Given the description of an element on the screen output the (x, y) to click on. 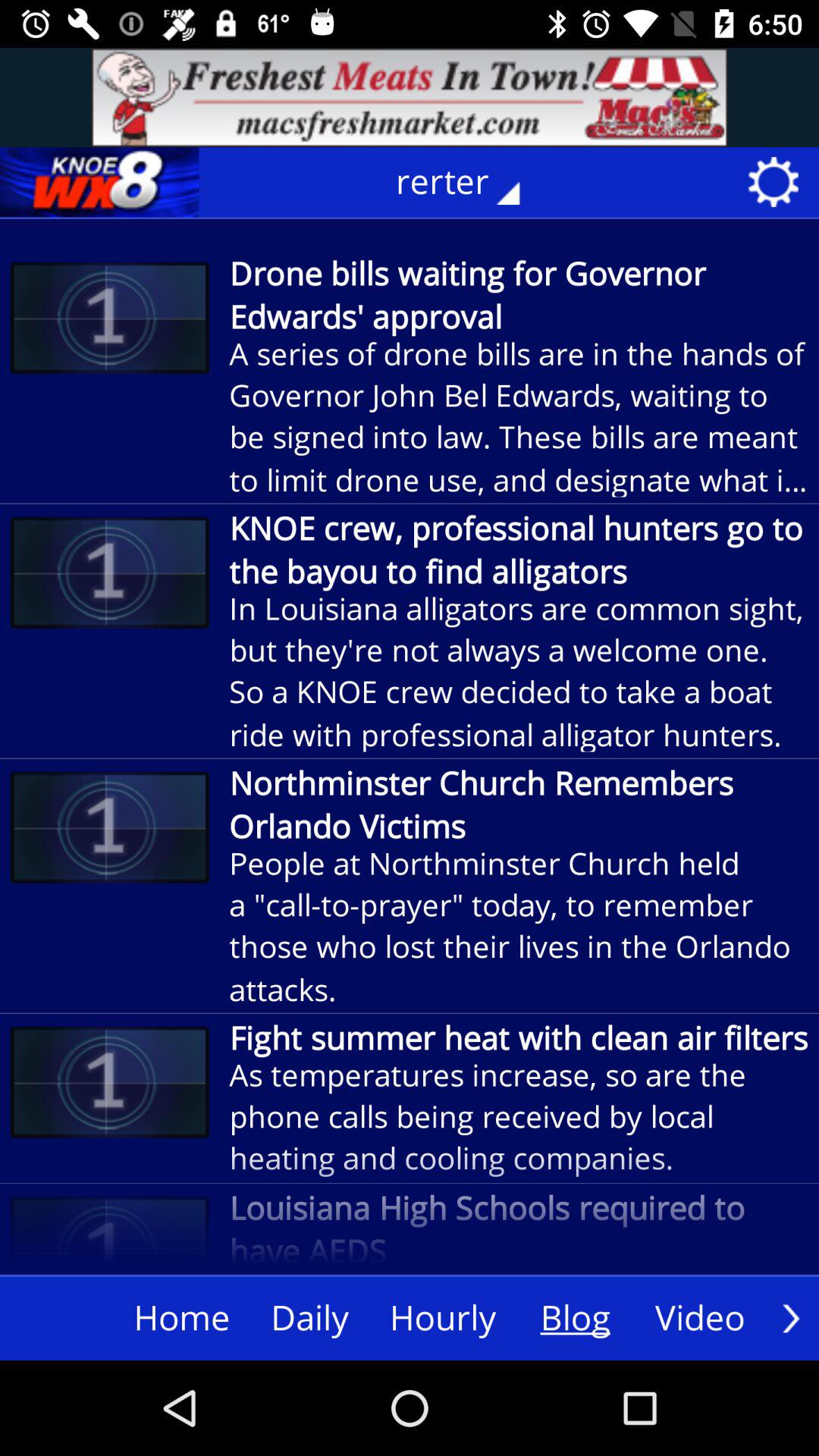
go to knoe wx8 details (99, 182)
